Given the description of an element on the screen output the (x, y) to click on. 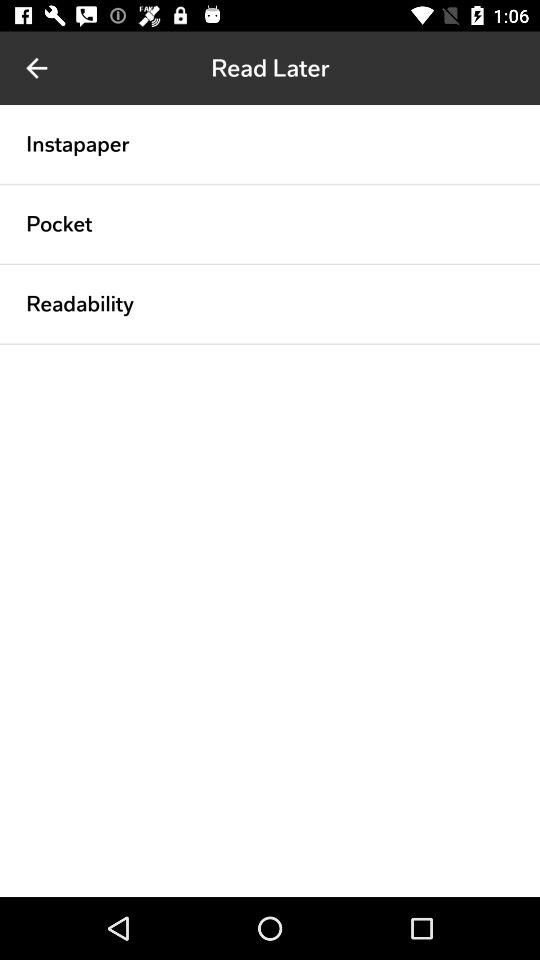
select the item below the pocket (270, 264)
